Given the description of an element on the screen output the (x, y) to click on. 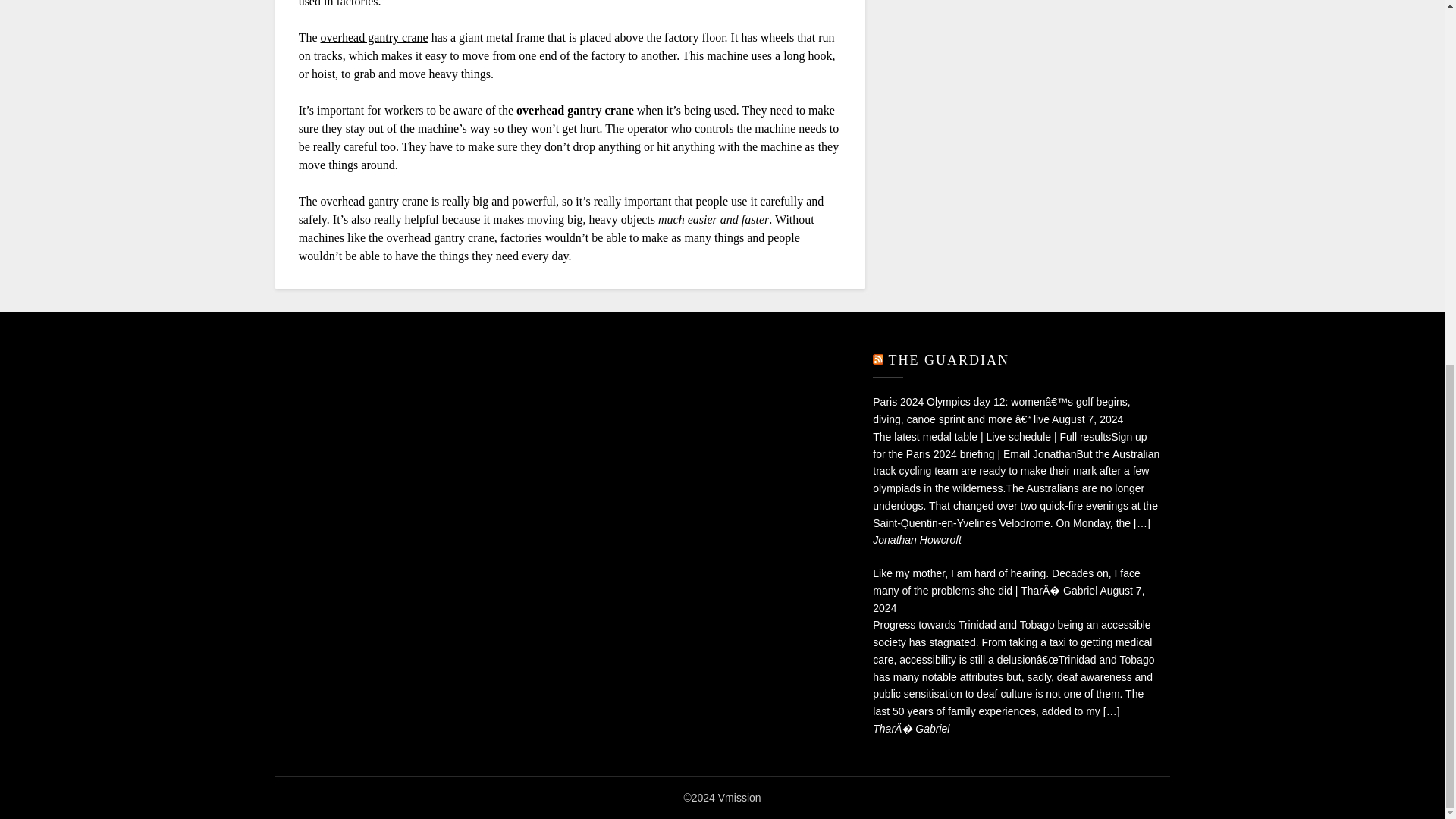
overhead gantry crane (374, 37)
THE GUARDIAN (948, 359)
